Given the description of an element on the screen output the (x, y) to click on. 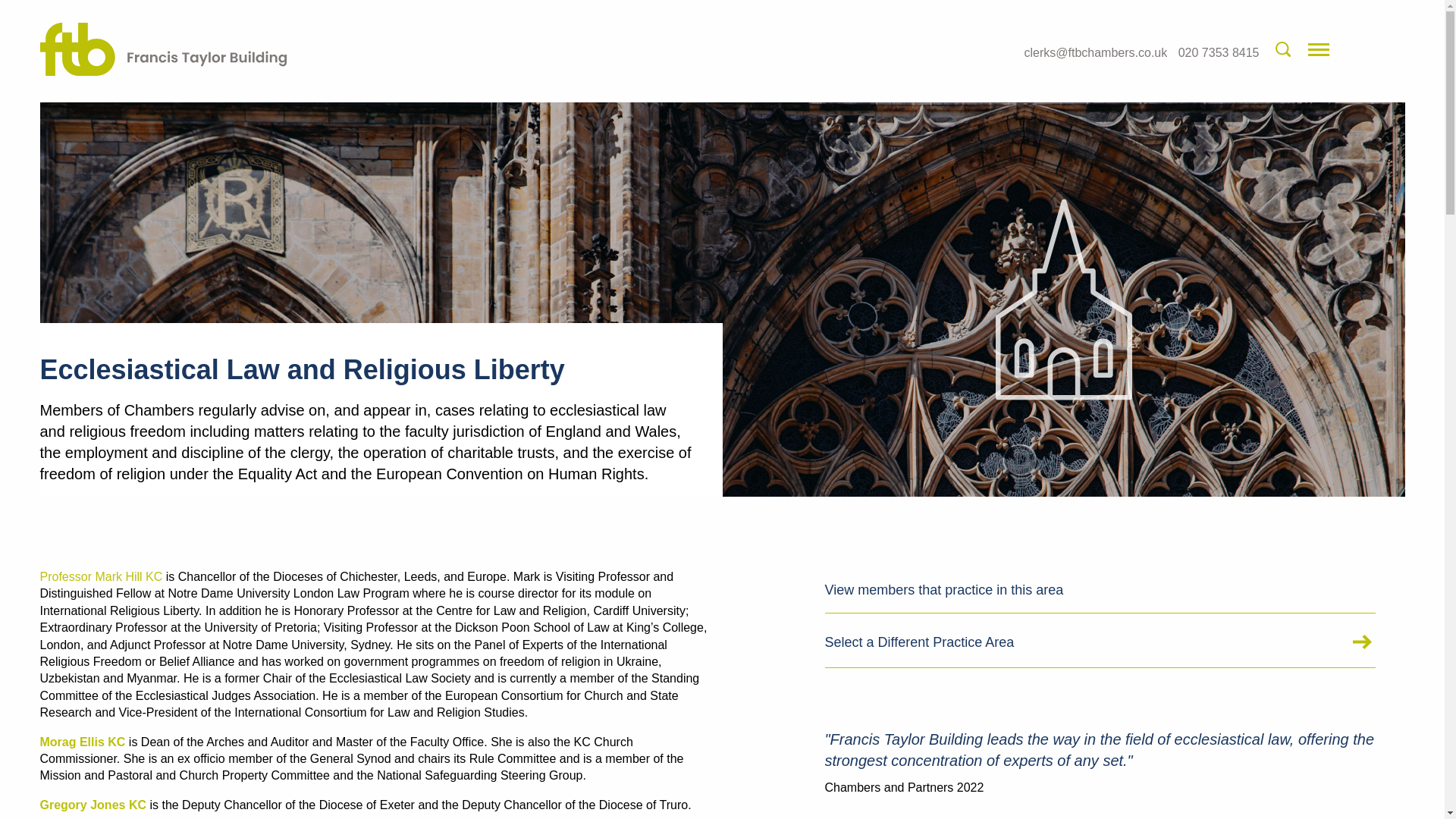
View members that practice in this area (1100, 590)
